Given the description of an element on the screen output the (x, y) to click on. 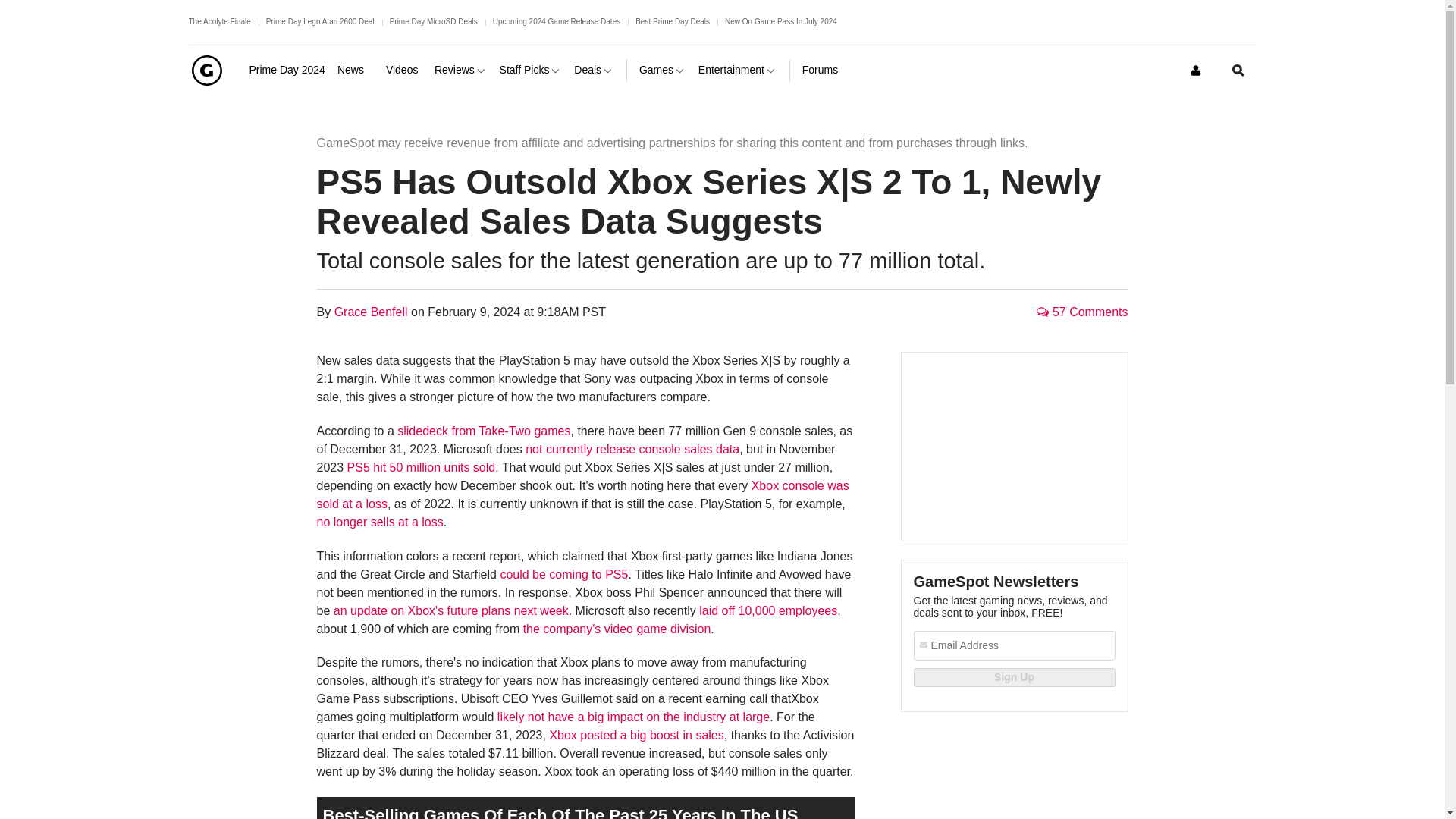
Videos (403, 70)
Prime Day MicroSD Deals (433, 21)
Staff Picks (530, 70)
Best Prime Day Deals (672, 21)
The Acolyte Finale (218, 21)
News (355, 70)
Prime Day 2024 (286, 70)
GameSpot (205, 70)
Reviews (460, 70)
Deals (593, 70)
Upcoming 2024 Game Release Dates (556, 21)
Games (662, 70)
Prime Day Lego Atari 2600 Deal (320, 21)
New On Game Pass In July 2024 (781, 21)
